Given the description of an element on the screen output the (x, y) to click on. 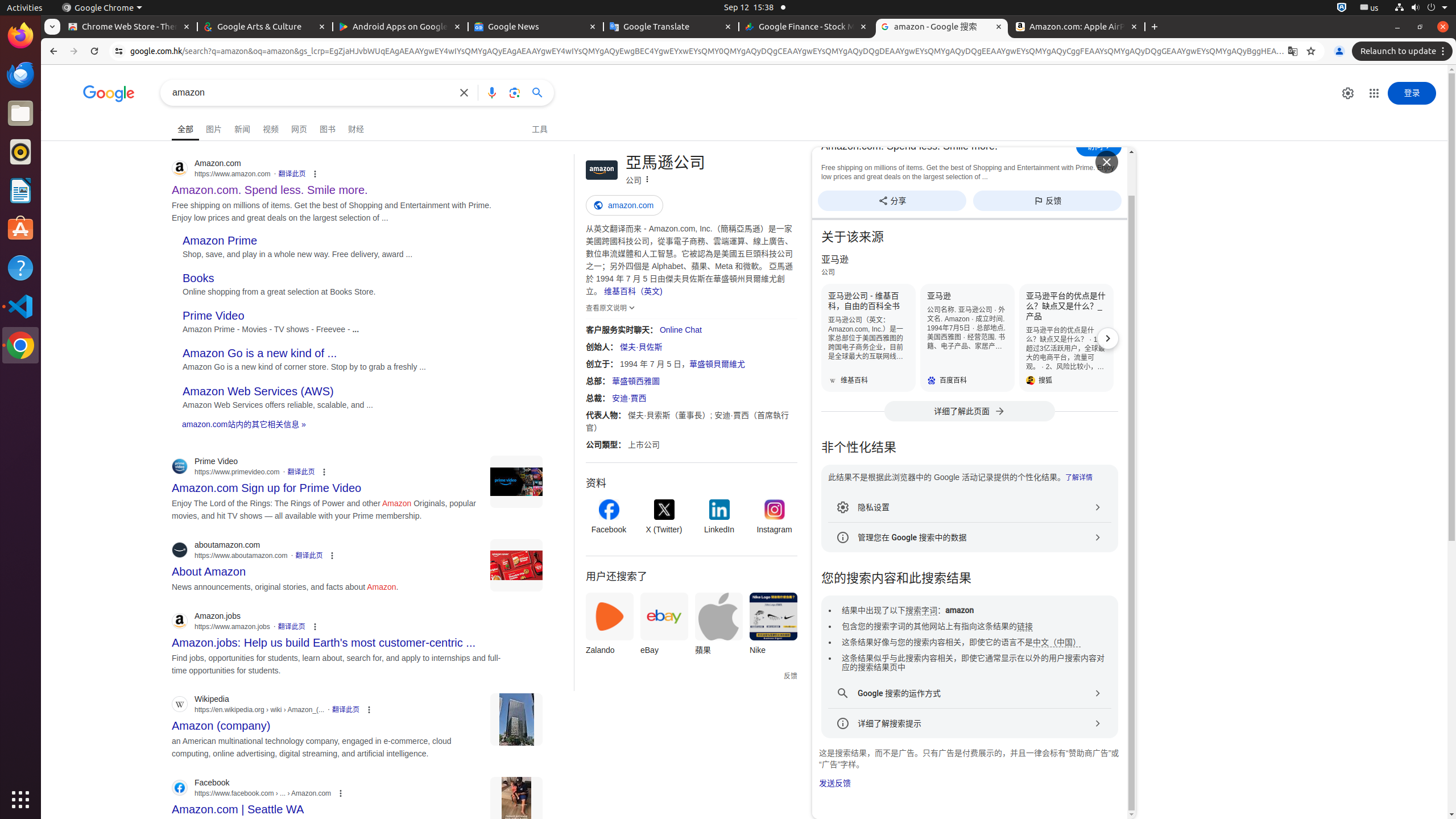
更多选项 Element type: push-button (646, 179)
无障碍功能帮助 Element type: link (78, 110)
关于这条结果的详细信息 Element type: push-button (346, 793)
華盛頓西雅圖 Element type: link (635, 380)
亚马逊公司 - 维基百科，自由的百科全书 Element type: link (868, 337)
